Given the description of an element on the screen output the (x, y) to click on. 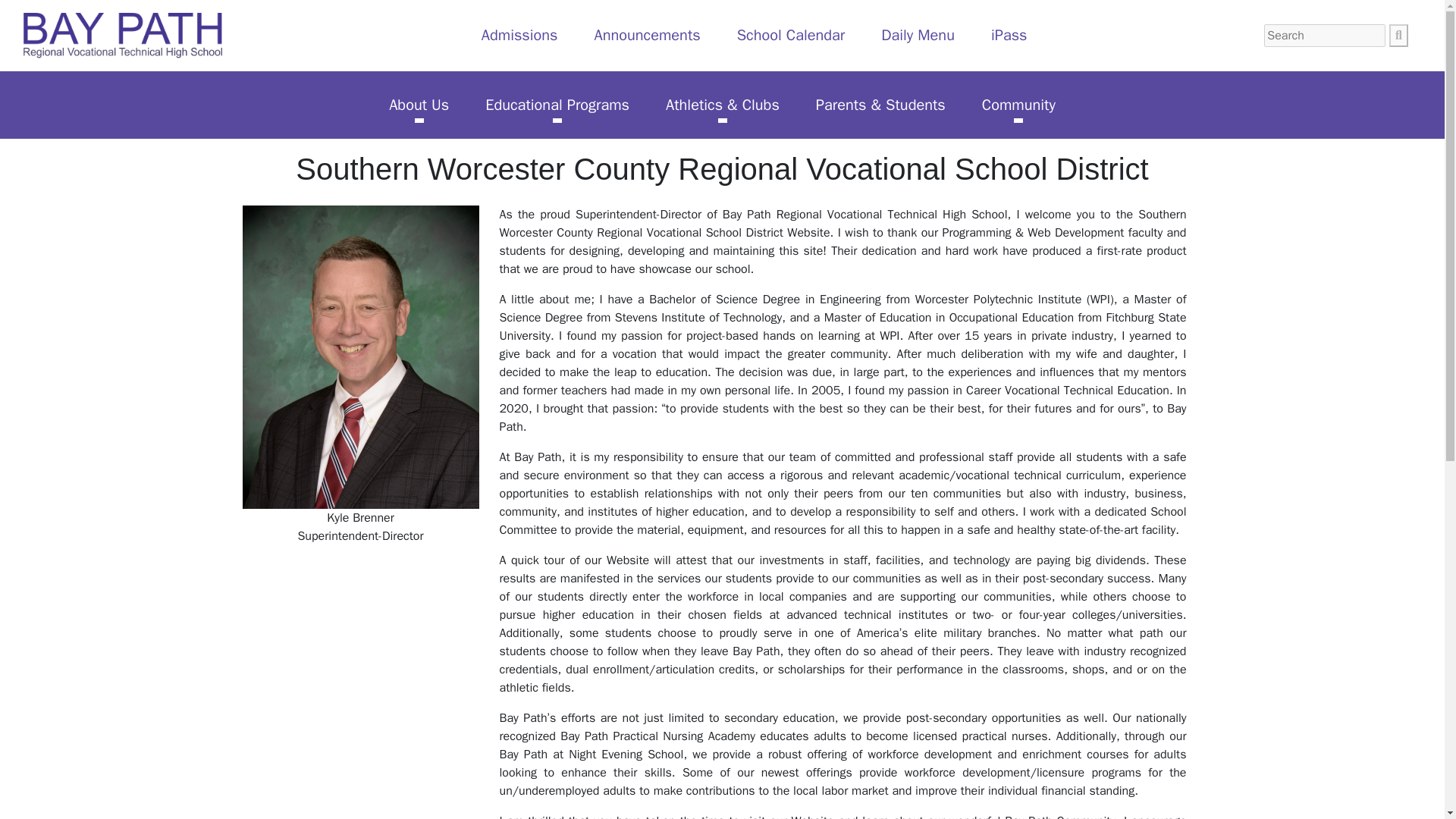
Educational Programs (556, 104)
About Us (418, 104)
Admissions (520, 35)
Community (1018, 104)
School Calendar (790, 35)
iPass (1009, 35)
Daily Menu (917, 35)
Announcements (647, 35)
